Given the description of an element on the screen output the (x, y) to click on. 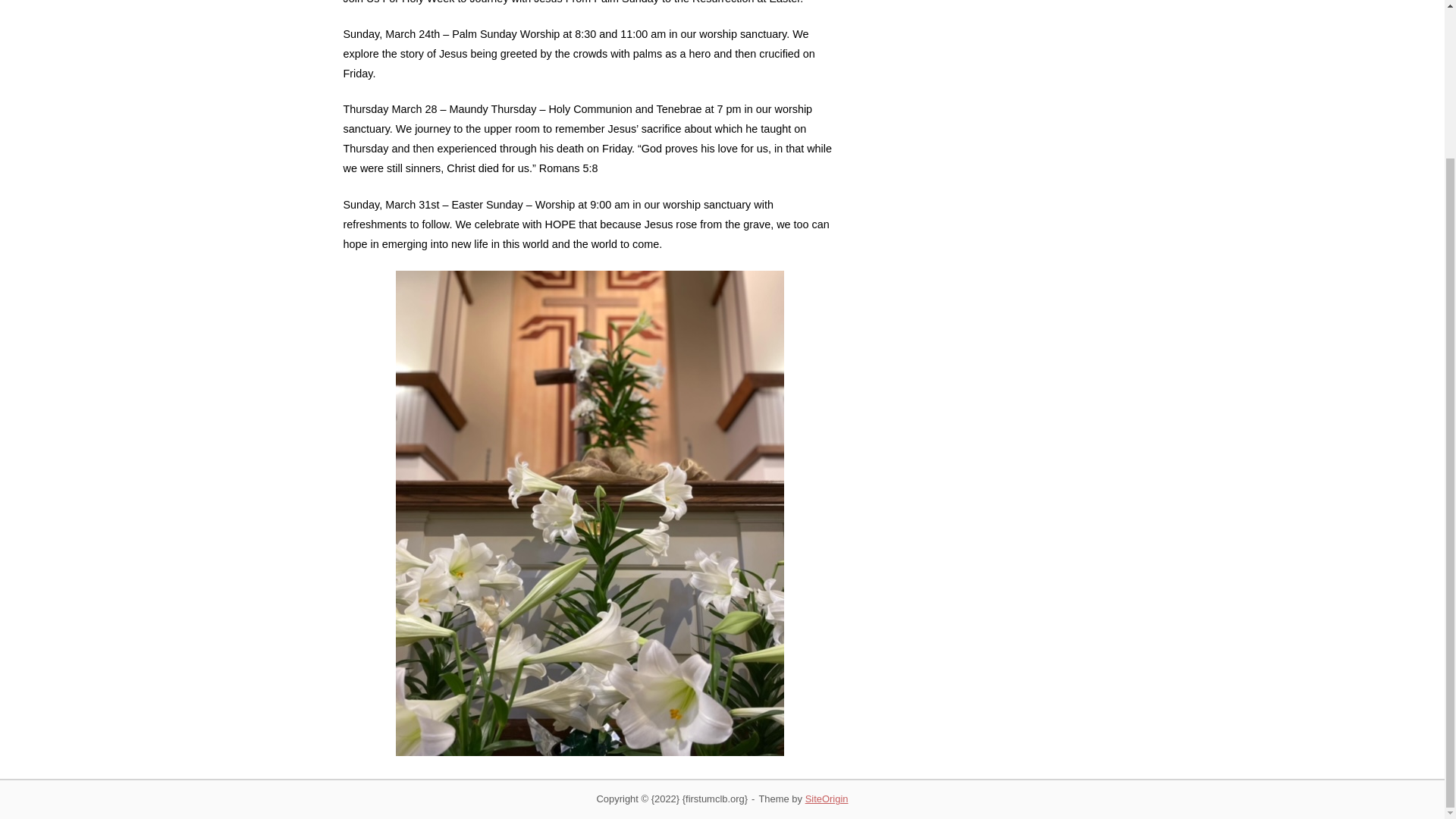
SiteOrigin (826, 798)
